Given the description of an element on the screen output the (x, y) to click on. 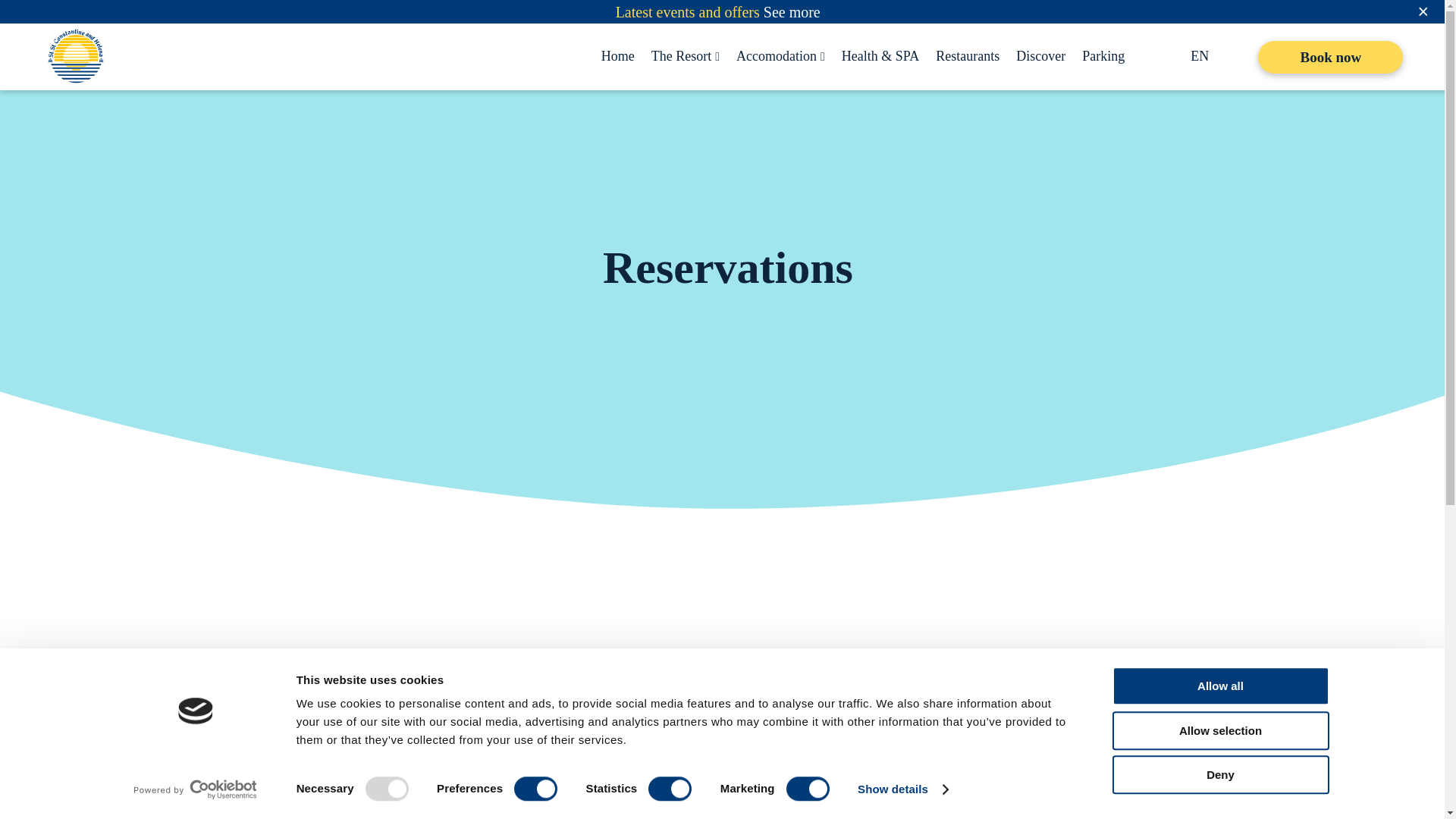
Allow all (1219, 685)
Show details (902, 789)
Home (617, 56)
See more (791, 11)
Allow selection (1219, 730)
Deny (1219, 774)
The Resort (680, 56)
